Given the description of an element on the screen output the (x, y) to click on. 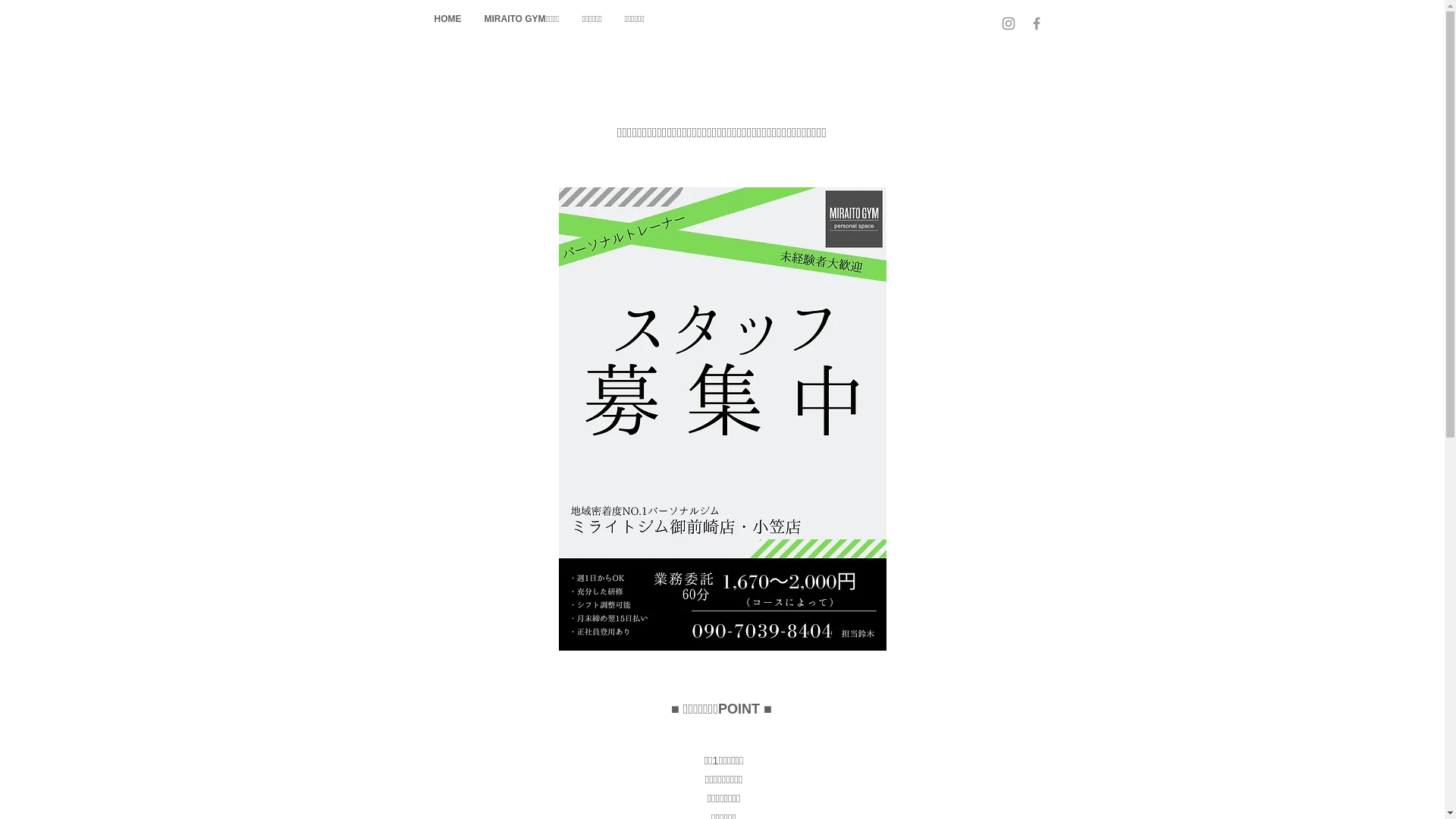
HOME Element type: text (448, 18)
